Given the description of an element on the screen output the (x, y) to click on. 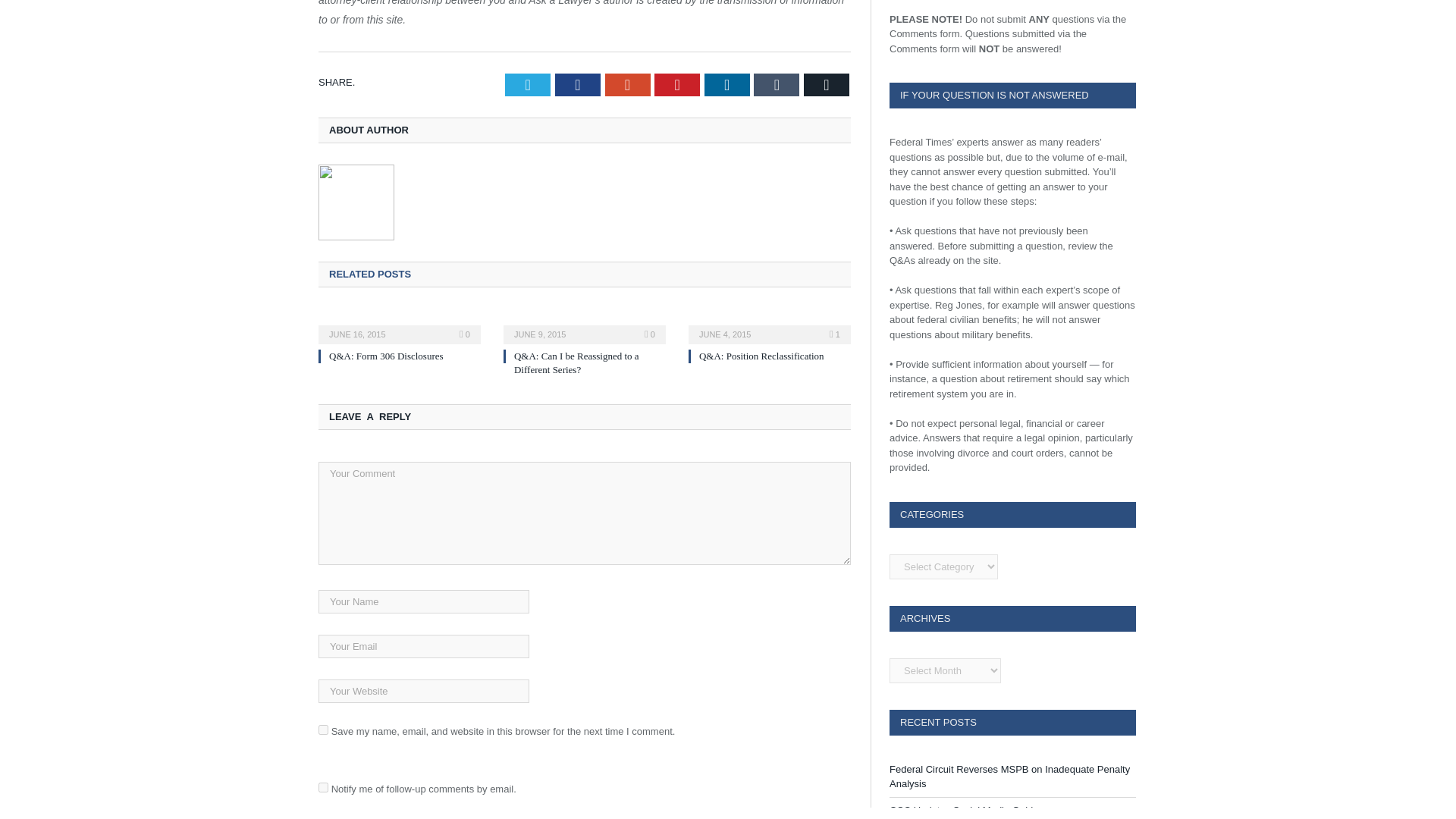
LinkedIn (726, 84)
subscribe (323, 787)
yes (323, 729)
Share on Facebook (576, 84)
Email (825, 84)
Facebook (576, 84)
Tumblr (776, 84)
Pinterest (676, 84)
Tweet It (527, 84)
Twitter (527, 84)
Share on Pinterest (676, 84)
